Given the description of an element on the screen output the (x, y) to click on. 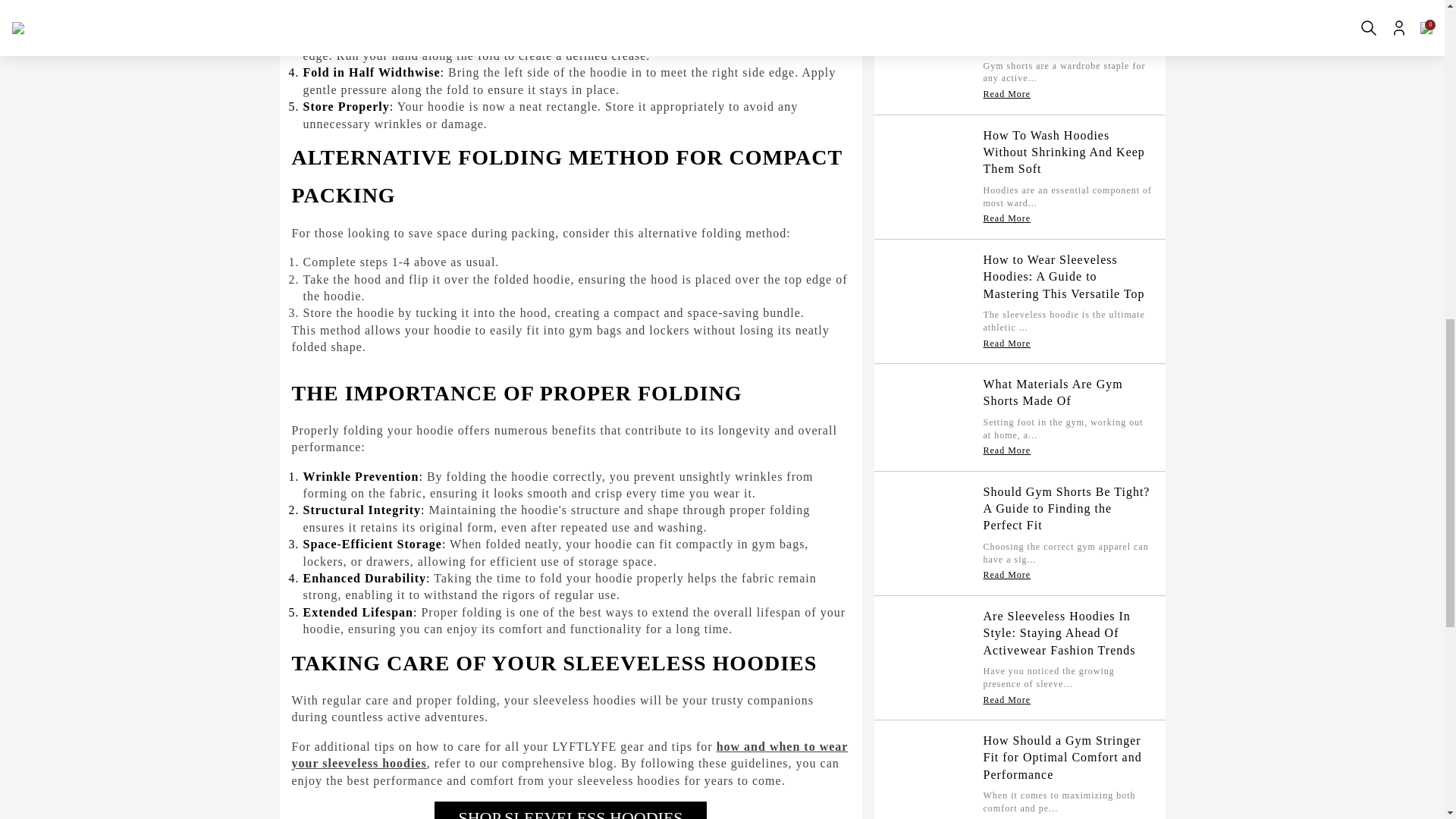
SHOP SLEEVELESS HOODIES (569, 810)
Read More (1006, 260)
Read More (1006, 510)
Read More (1006, 385)
how and when to wear your sleeveless hoodies (569, 754)
Read More (1006, 29)
Read More (1006, 136)
